Given the description of an element on the screen output the (x, y) to click on. 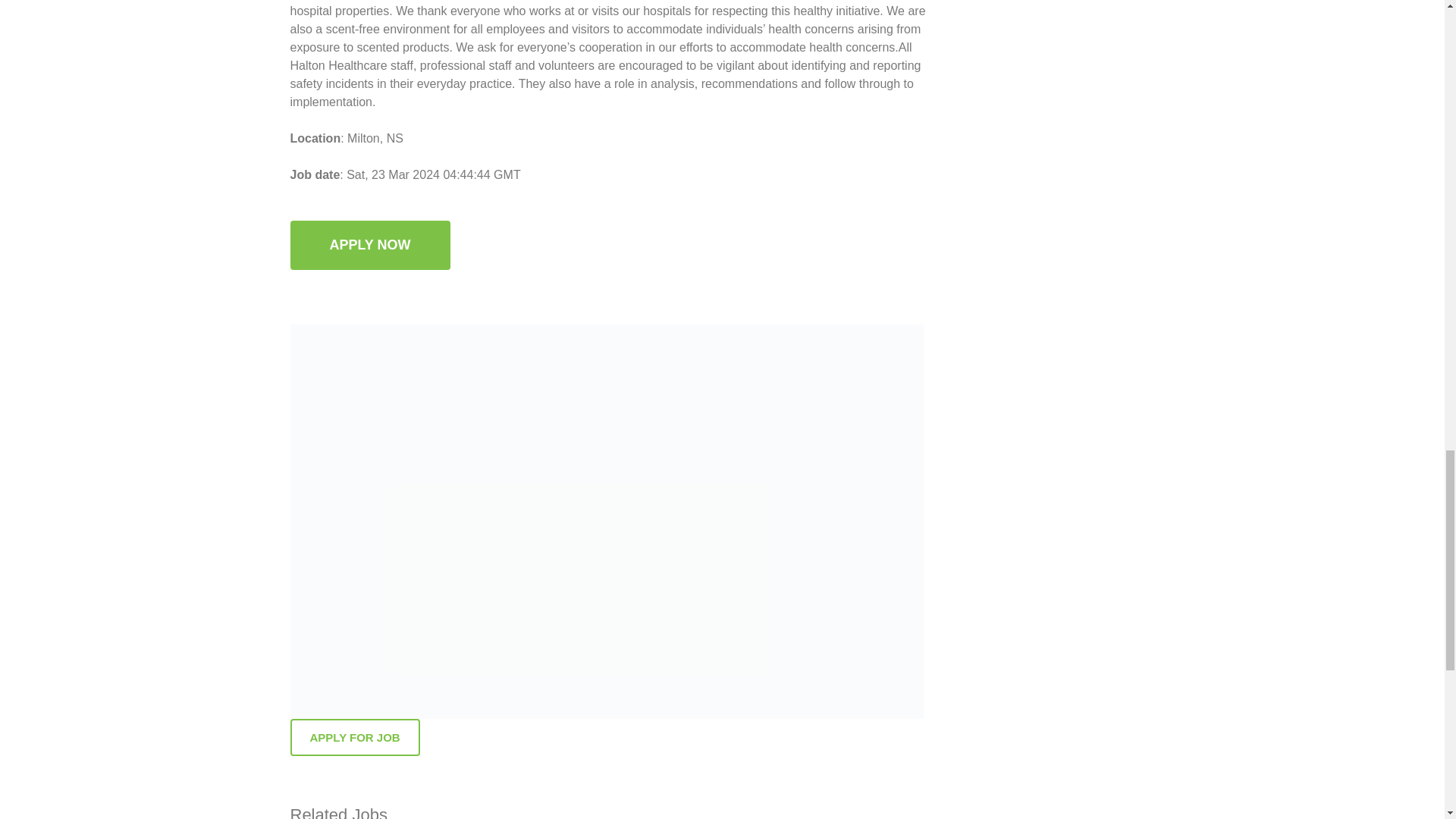
APPLY NOW (369, 245)
APPLY FOR JOB (354, 737)
APPLY NOW (369, 262)
